Given the description of an element on the screen output the (x, y) to click on. 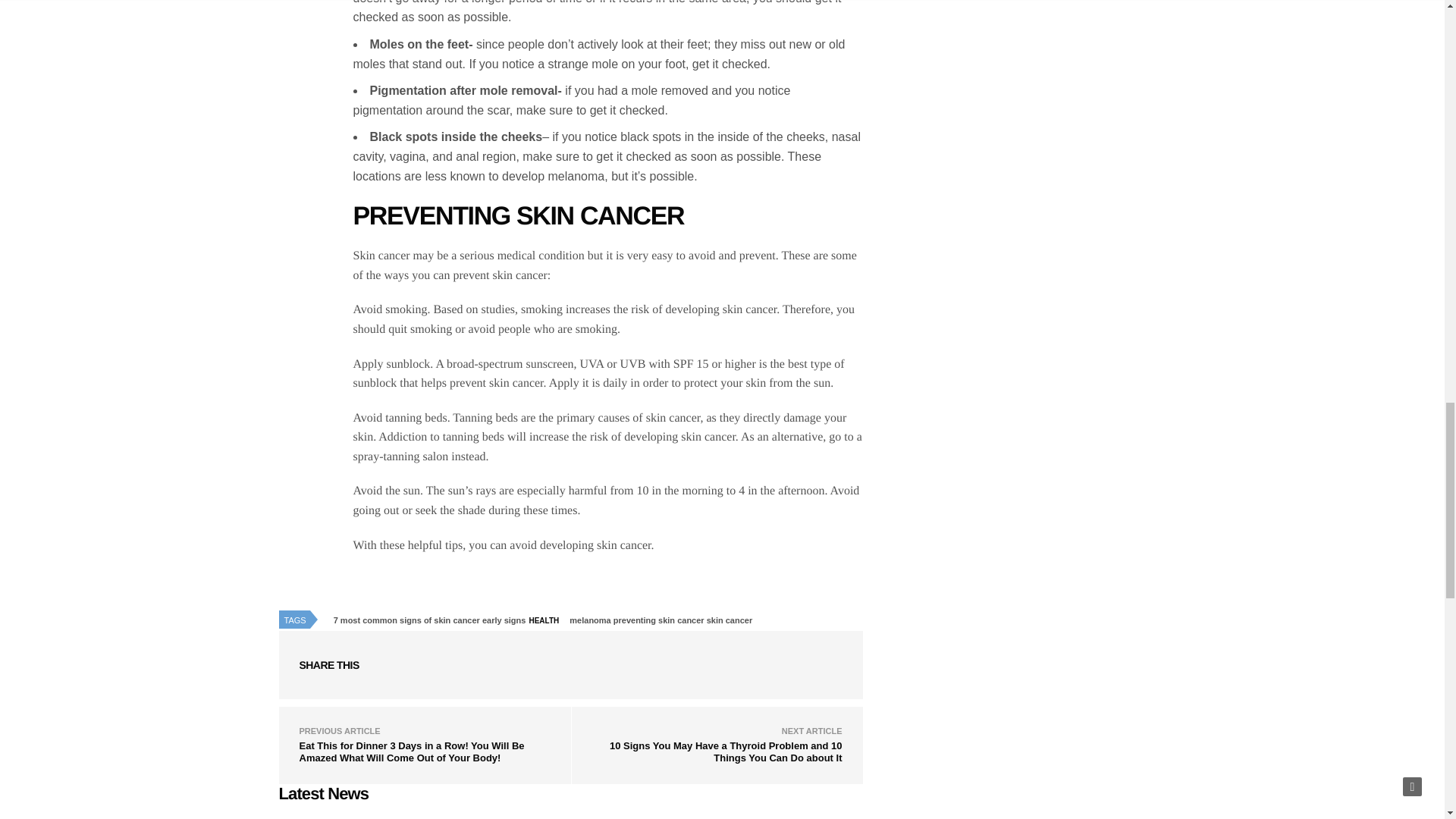
HEALTH (547, 620)
